Given the description of an element on the screen output the (x, y) to click on. 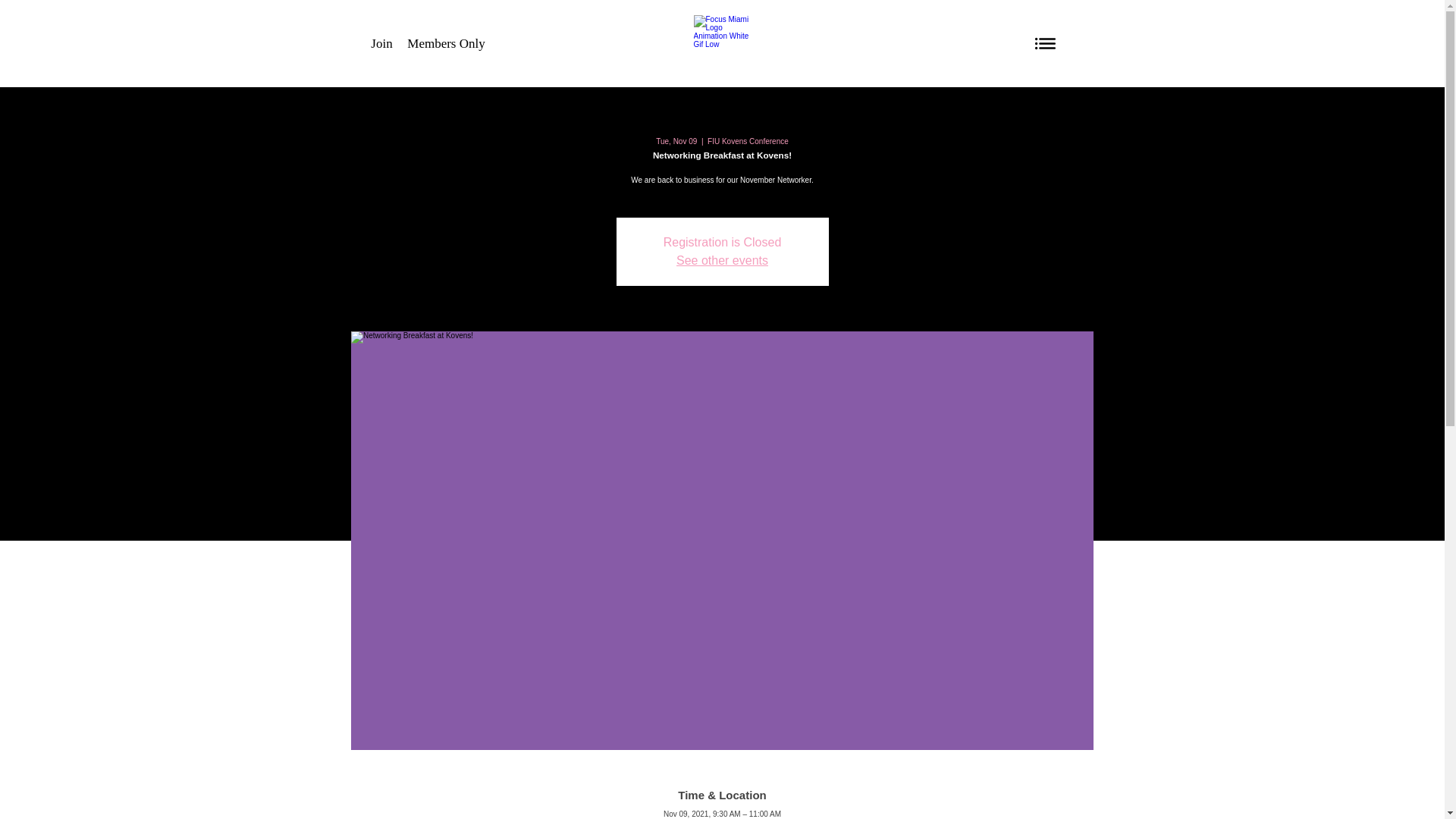
Members Only (445, 43)
See other events (722, 259)
Join (381, 43)
